Given the description of an element on the screen output the (x, y) to click on. 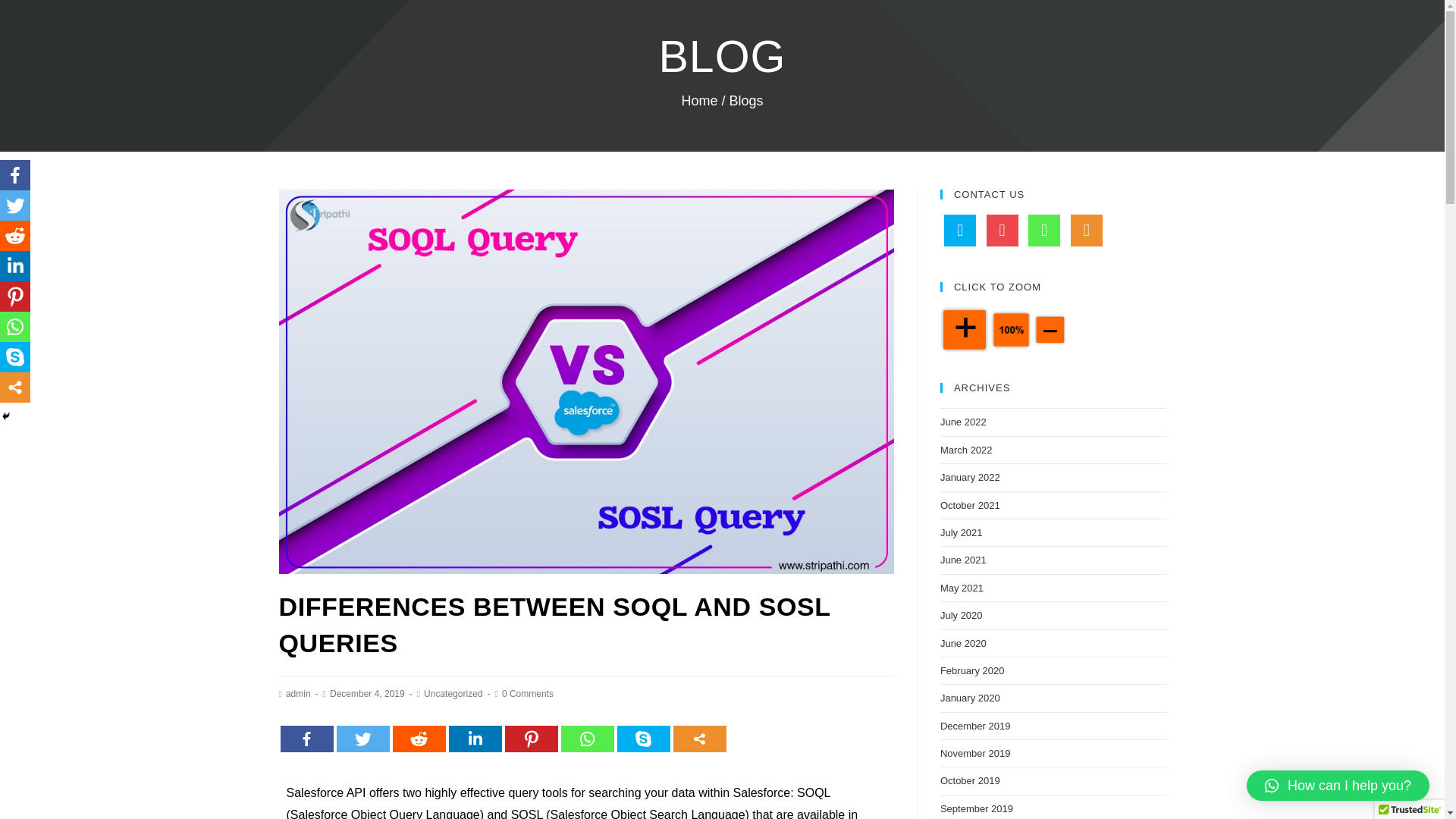
Uncategorized (452, 693)
June 2022 (963, 421)
0 Comments (527, 693)
Blogs (745, 100)
Twitter (363, 738)
June 2021 (963, 559)
Whatsapp (587, 738)
July 2021 (961, 532)
Skype (643, 738)
March 2022 (966, 449)
Pinterest (531, 738)
Reddit (419, 738)
More (699, 738)
Facebook (307, 738)
May 2021 (962, 587)
